Given the description of an element on the screen output the (x, y) to click on. 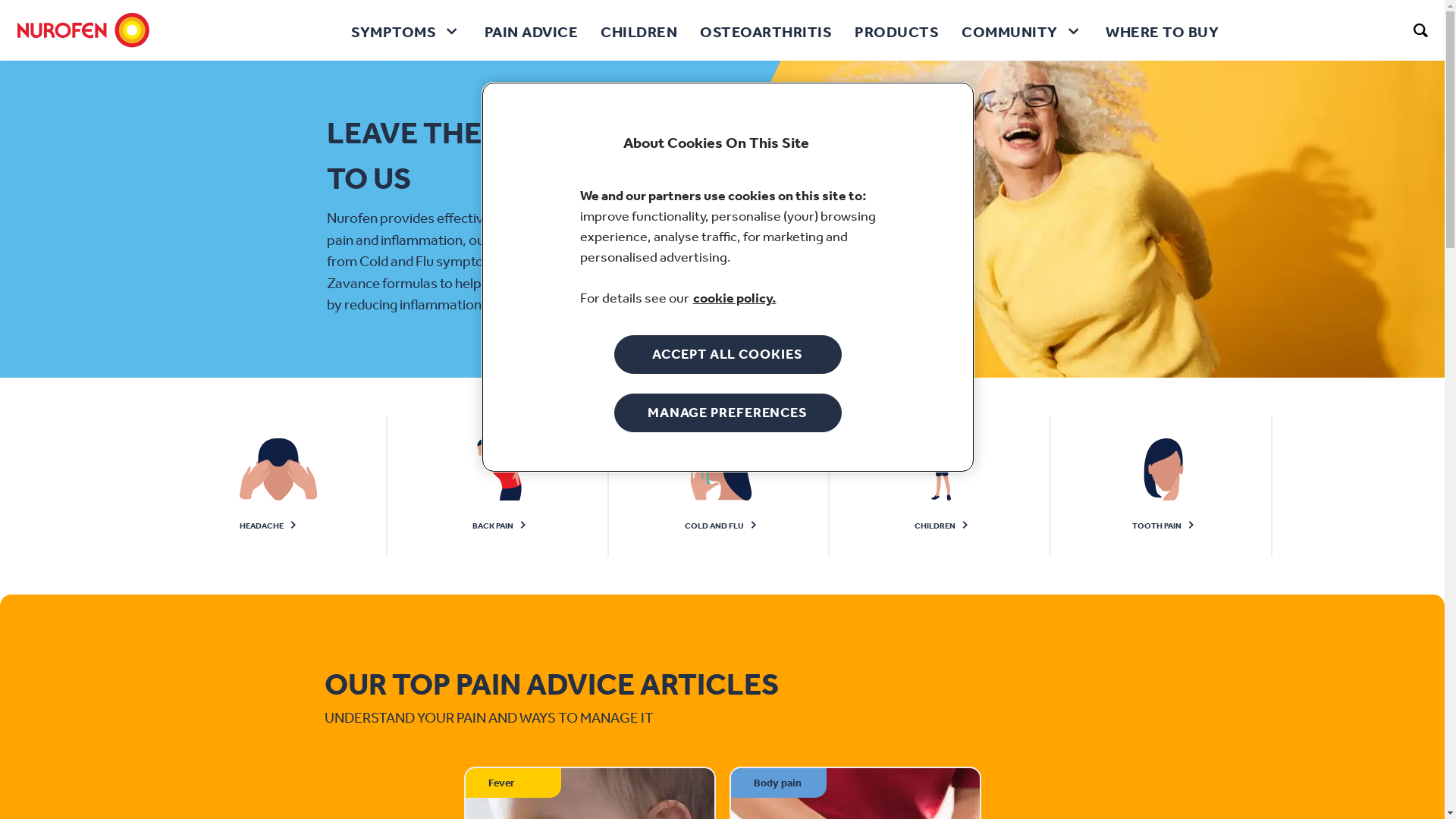
SYMPTOMS Element type: text (406, 30)
CHILDREN Element type: text (638, 30)
WHERE TO BUY Element type: text (1161, 30)
ACCEPT ALL COOKIES Element type: text (727, 354)
MANAGE PREFERENCES Element type: text (727, 412)
PAIN ADVICE Element type: text (531, 30)
COMMUNITY Element type: text (1022, 30)
TOOTH PAIN Element type: text (1163, 485)
COLD AND FLU Element type: text (721, 485)
cookie policy. Element type: text (734, 297)
OSTEOARTHRITIS Element type: text (765, 30)
BACK PAIN Element type: text (500, 485)
CHILDREN Element type: text (942, 485)
HEADACHE Element type: text (278, 485)
PRODUCTS Element type: text (896, 30)
